Given the description of an element on the screen output the (x, y) to click on. 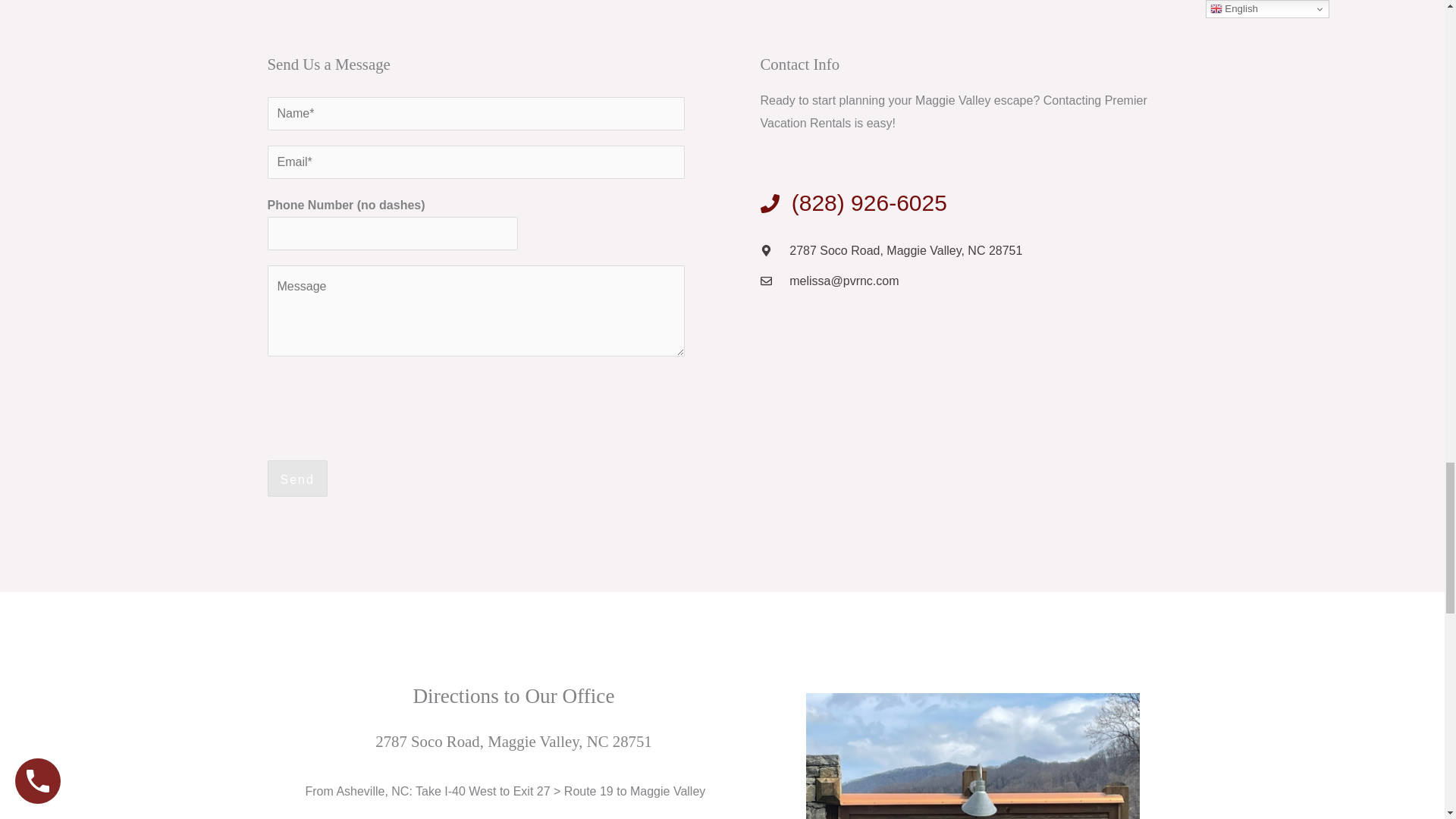
Send (296, 478)
Widget containing checkbox for hCaptcha security challenge (381, 400)
2787 Soco Road, Maggie Valley, NC 28751 (968, 250)
